Given the description of an element on the screen output the (x, y) to click on. 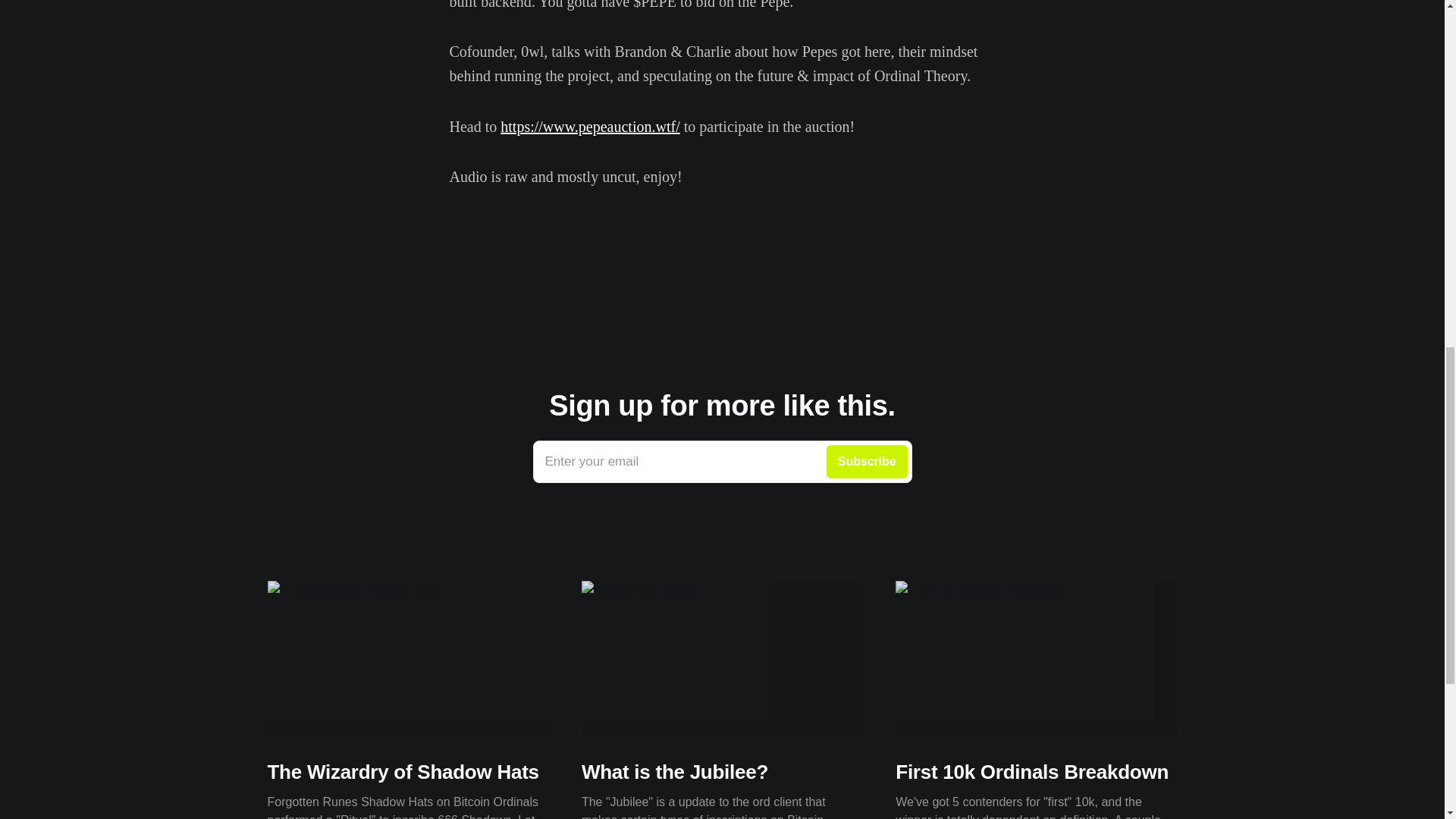
Project Spotlight - Inscribed Pepes (721, 280)
